Given the description of an element on the screen output the (x, y) to click on. 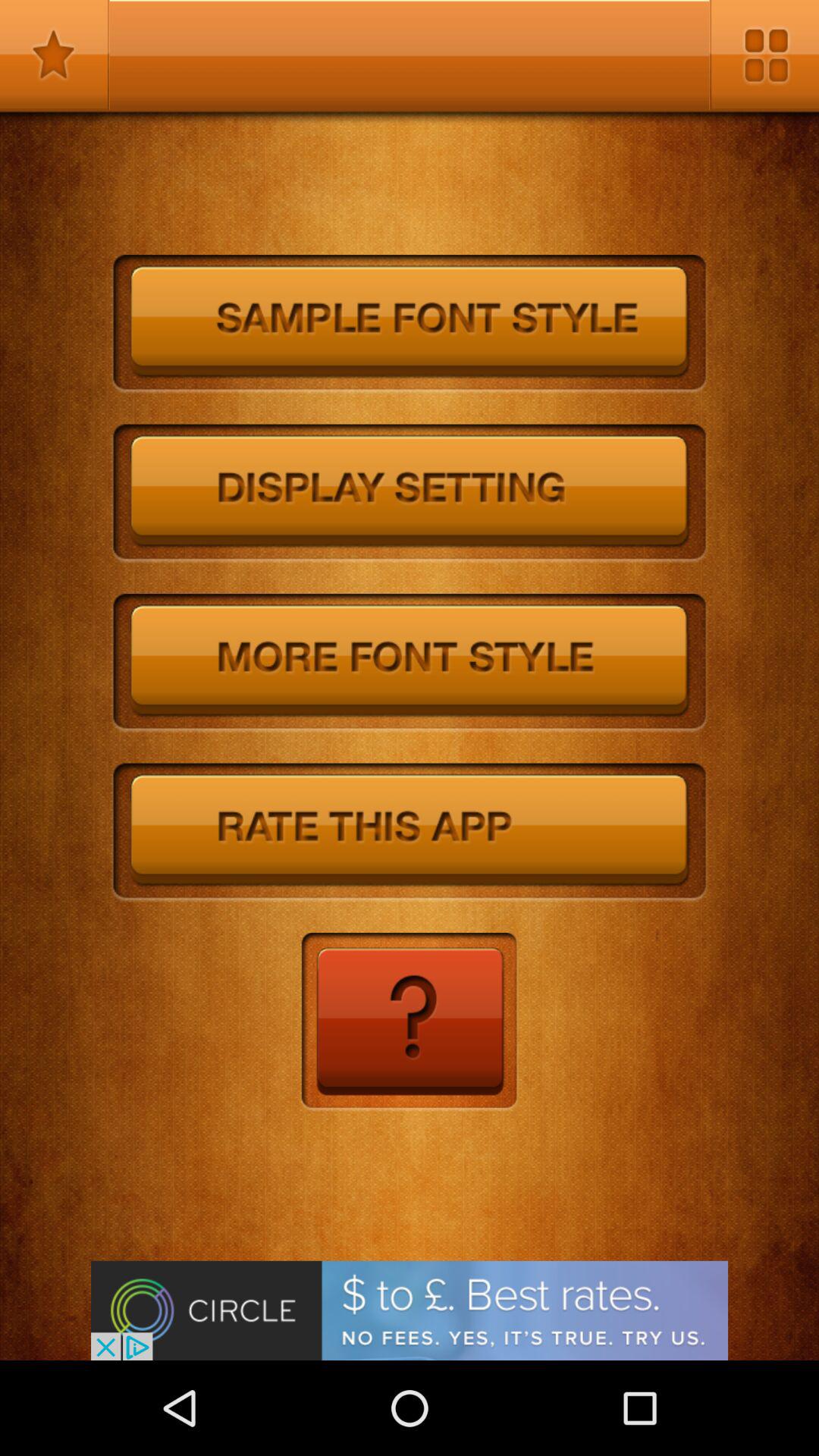
rate the app option (409, 832)
